Given the description of an element on the screen output the (x, y) to click on. 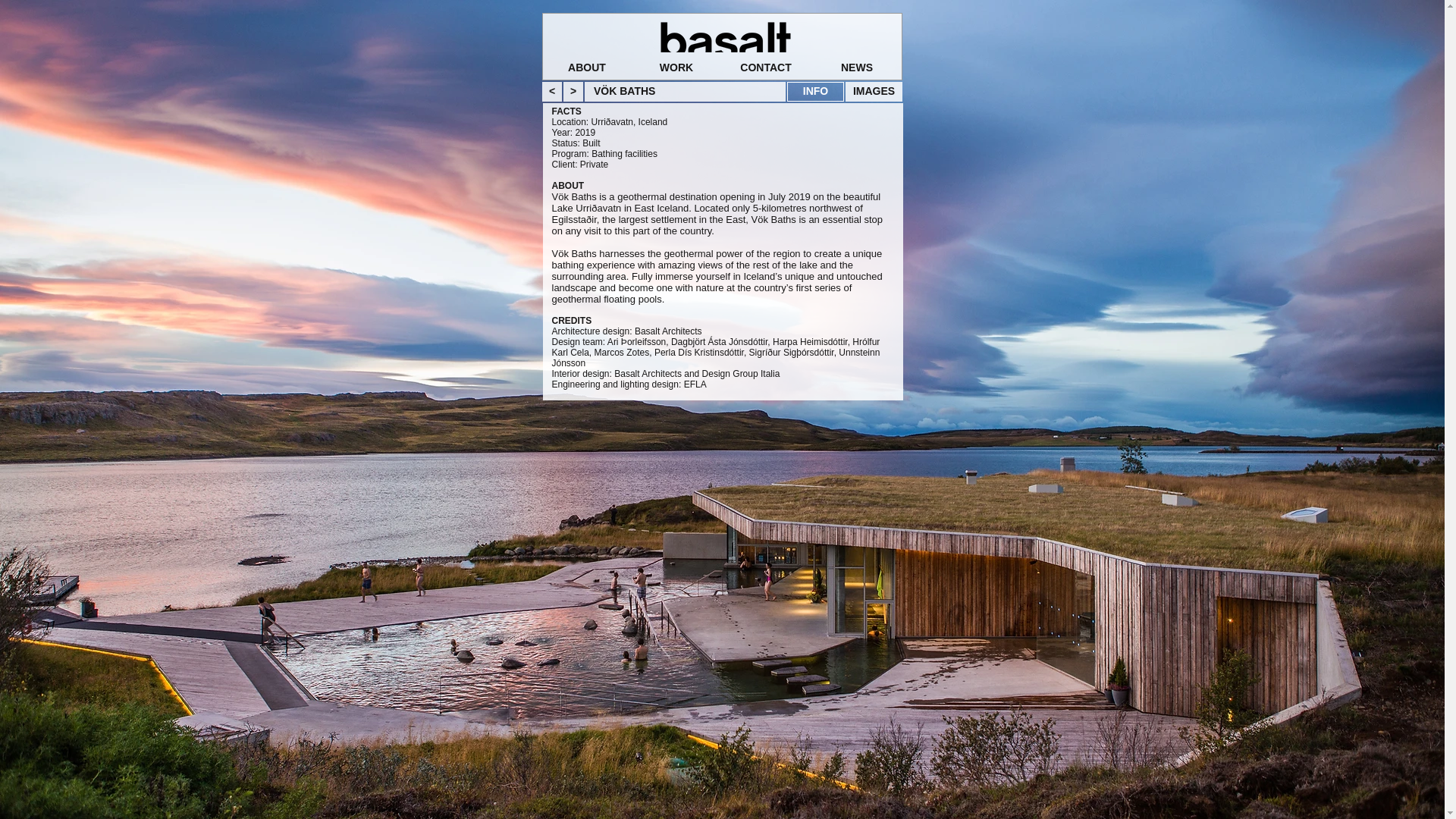
IMAGES (873, 91)
ABOUT (586, 67)
INFO (815, 91)
CONTACT (765, 67)
NEWS (856, 67)
WORK (675, 67)
